Given the description of an element on the screen output the (x, y) to click on. 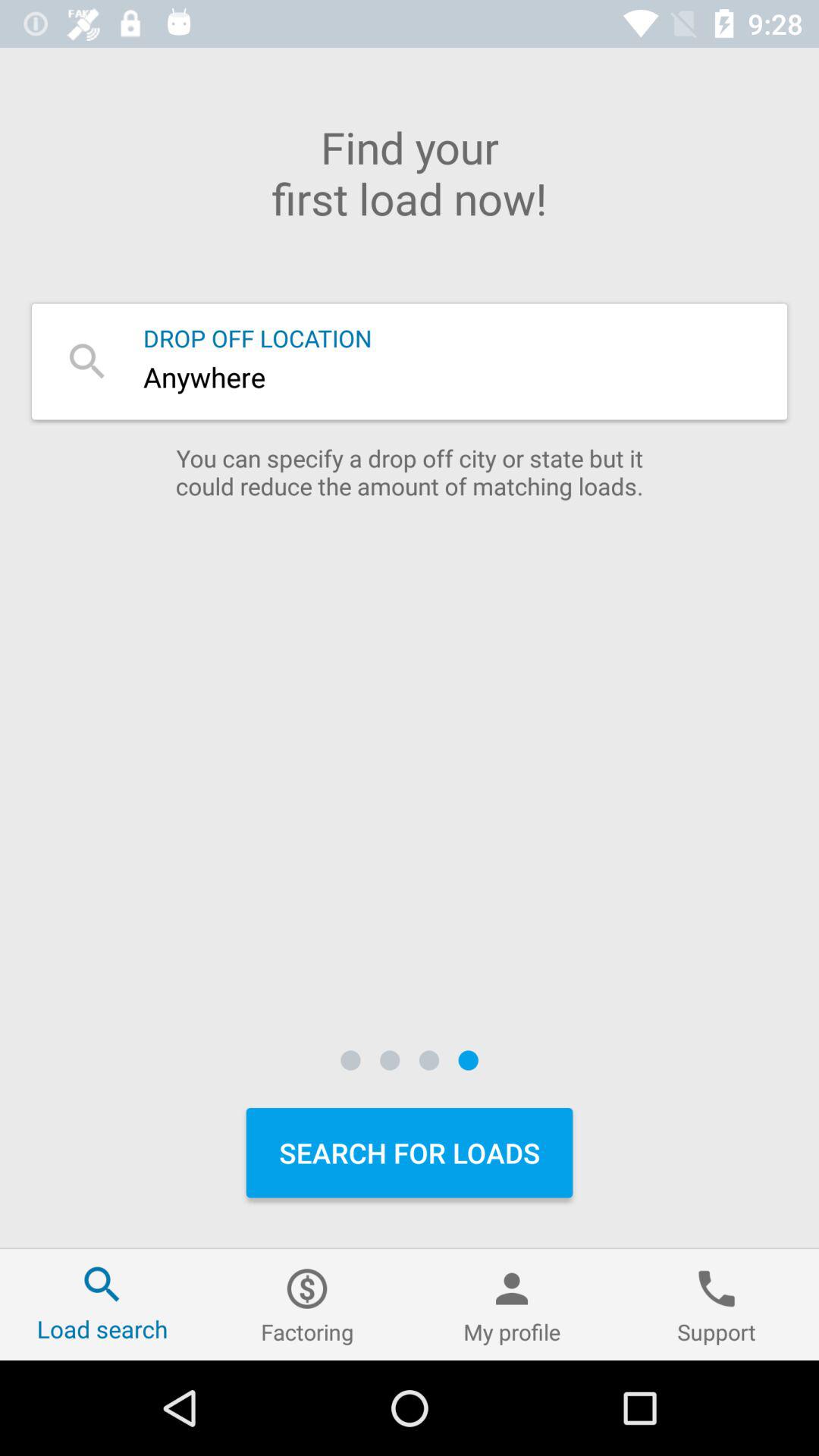
scroll until the factoring icon (306, 1304)
